Given the description of an element on the screen output the (x, y) to click on. 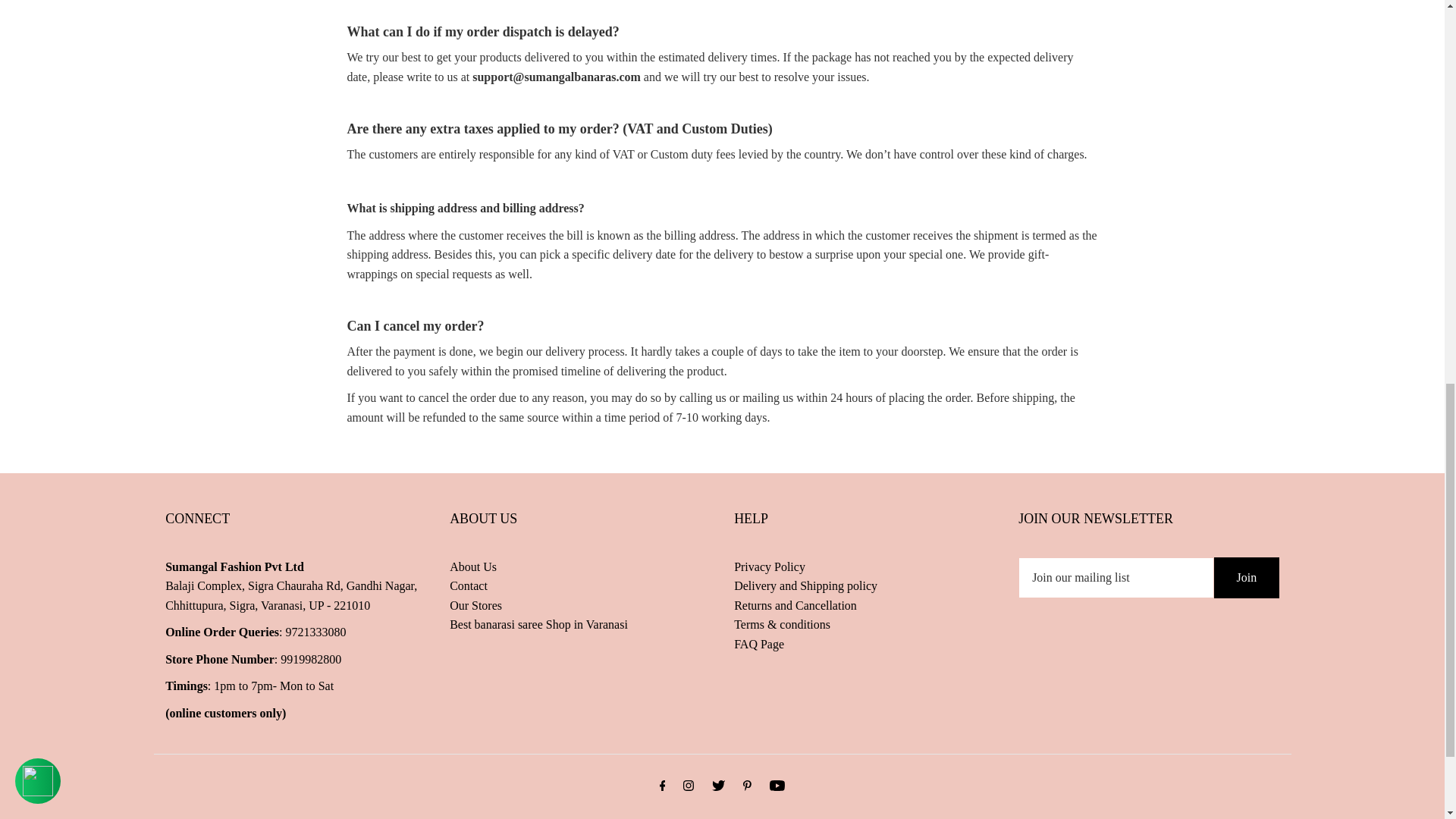
Join (1246, 577)
